Given the description of an element on the screen output the (x, y) to click on. 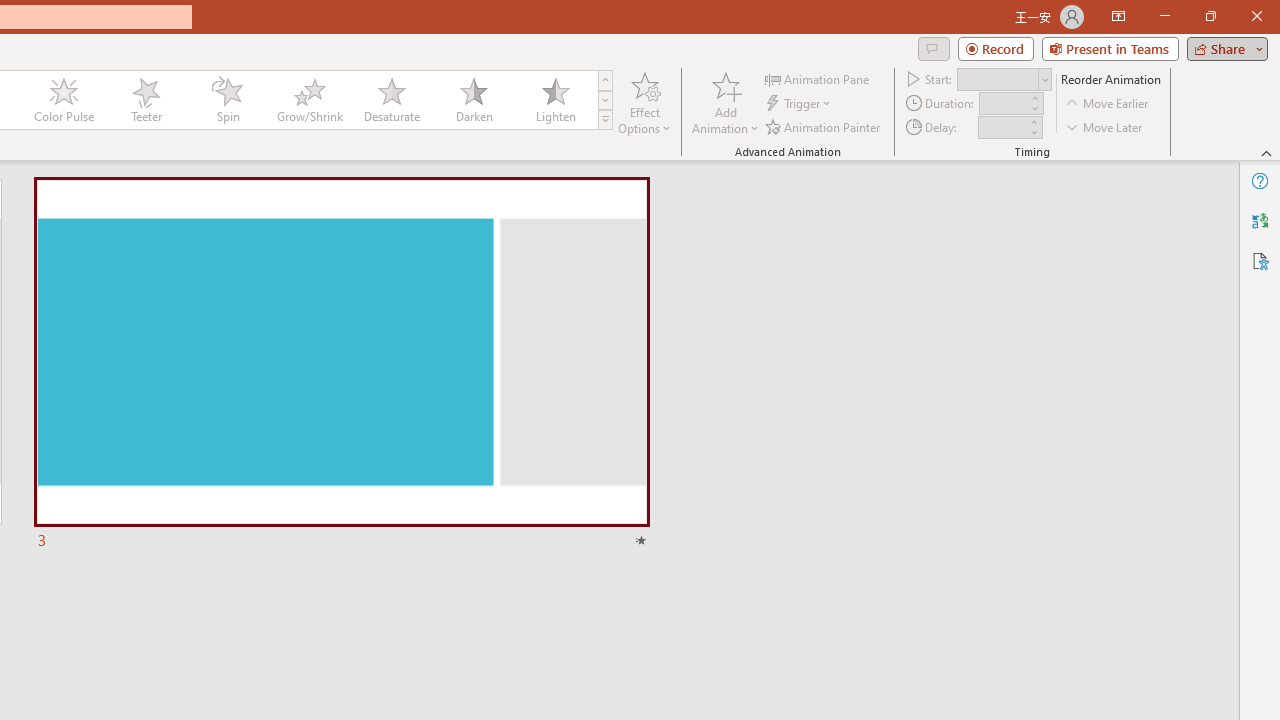
Move Later (1105, 126)
Animation Duration (1003, 103)
Trigger (799, 103)
Animation Delay (1002, 127)
Animation Styles (605, 120)
